Given the description of an element on the screen output the (x, y) to click on. 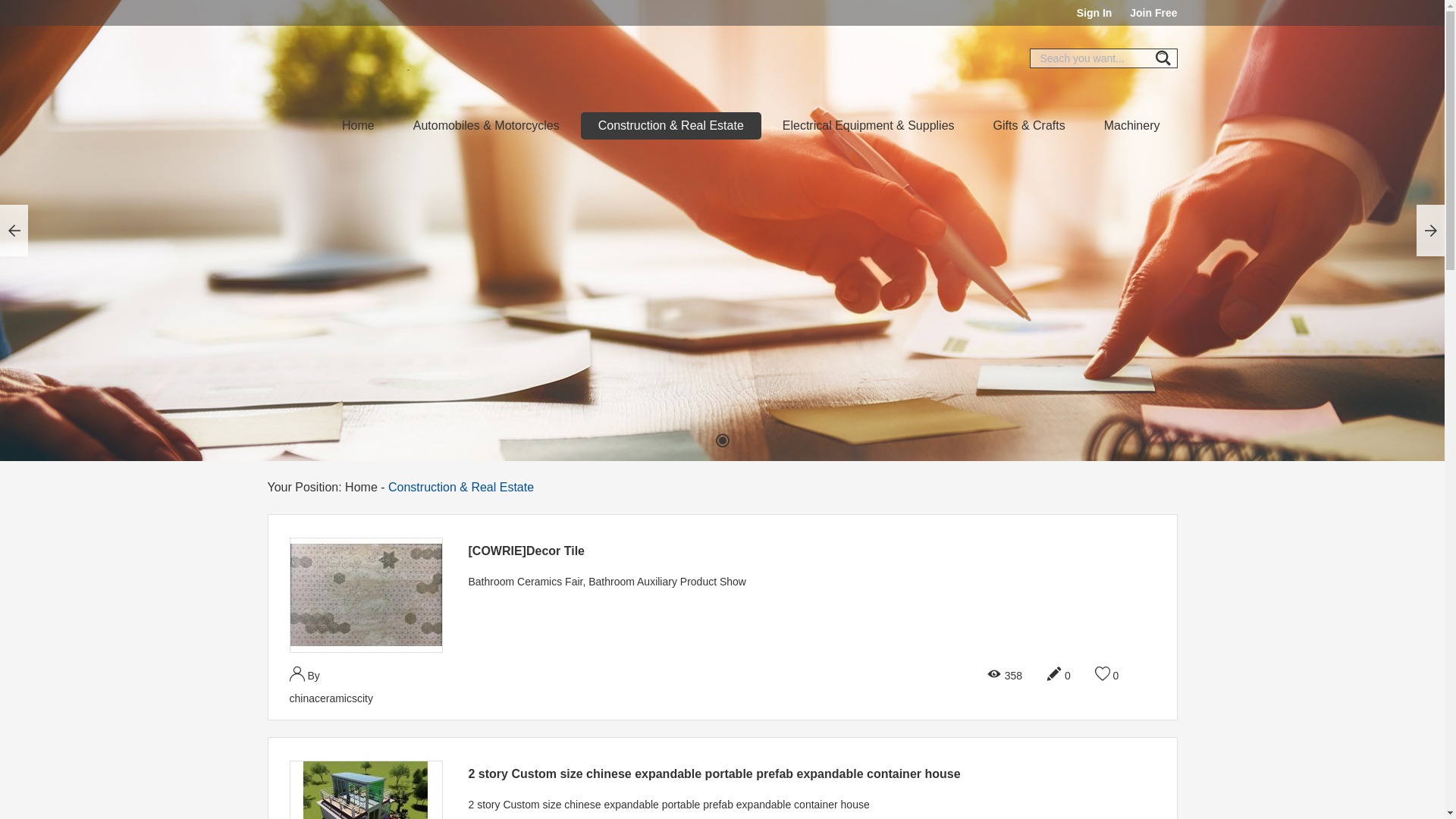
Gifts & Crafts Element type: text (1028, 125)
[COWRIE]Decor Tile Element type: hover (365, 595)
Join Free Element type: text (1152, 12)
Electrical Equipment & Supplies Element type: text (868, 125)
Home Element type: text (358, 125)
reanod22 Element type: hover (722, 230)
[COWRIE]Decor Tile Element type: text (526, 550)
0 Element type: text (1058, 674)
Bathroom Ceramics Fair, Bathroom Auxiliary Product Show Element type: text (793, 581)
Automobiles & Motorcycles Element type: text (486, 125)
Construction & Real Estate Element type: text (460, 486)
Sign In Element type: text (1094, 12)
[COWRIE]Decor Tile Element type: hover (365, 594)
Machinery Element type: text (1131, 125)
0 Element type: text (1107, 674)
Construction & Real Estate Element type: text (670, 125)
Home Element type: text (361, 486)
By chinaceramicscity Element type: text (344, 685)
358 Element type: text (1004, 674)
